Given the description of an element on the screen output the (x, y) to click on. 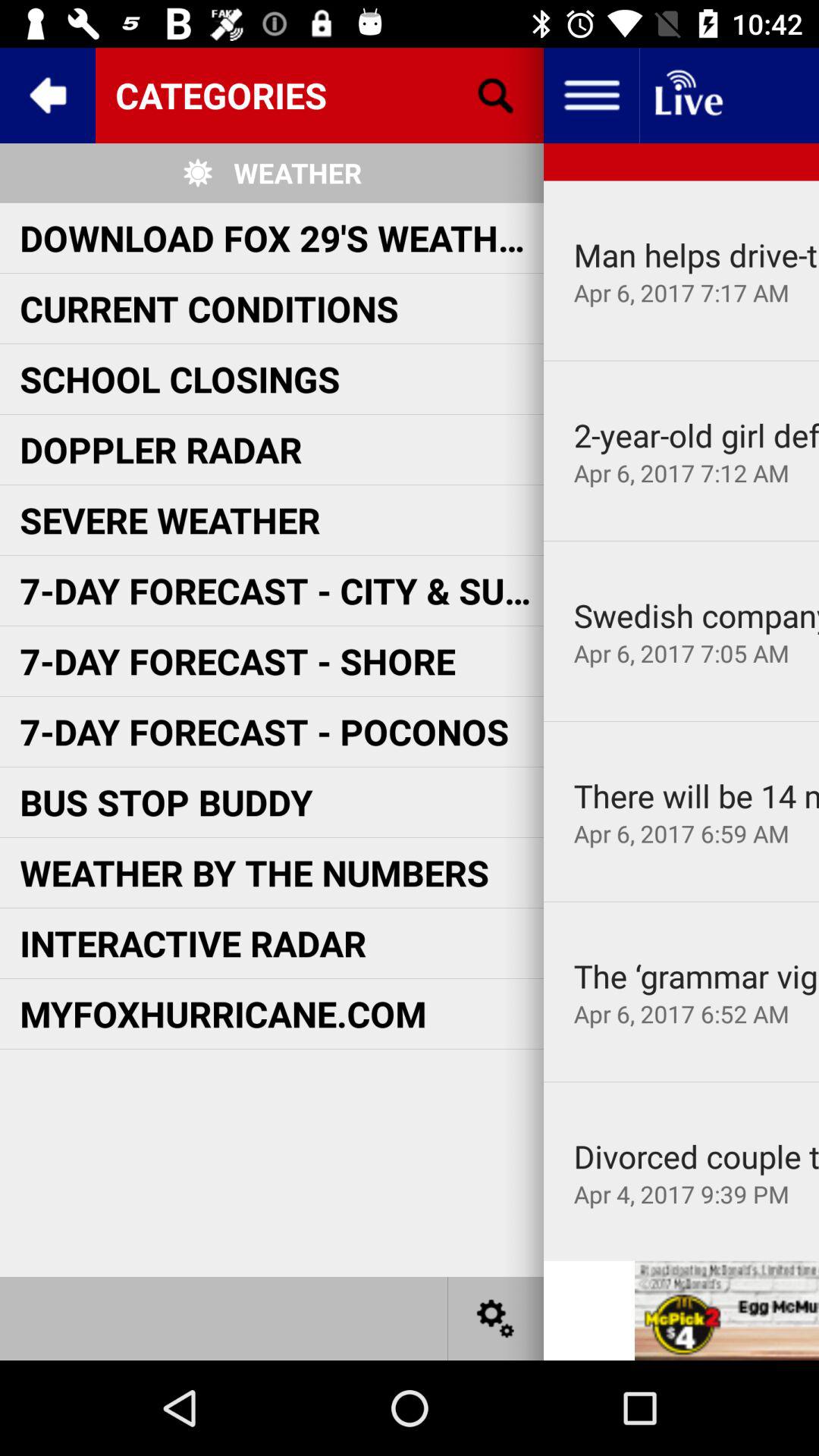
select icon below apr 6 2017 app (681, 540)
